Given the description of an element on the screen output the (x, y) to click on. 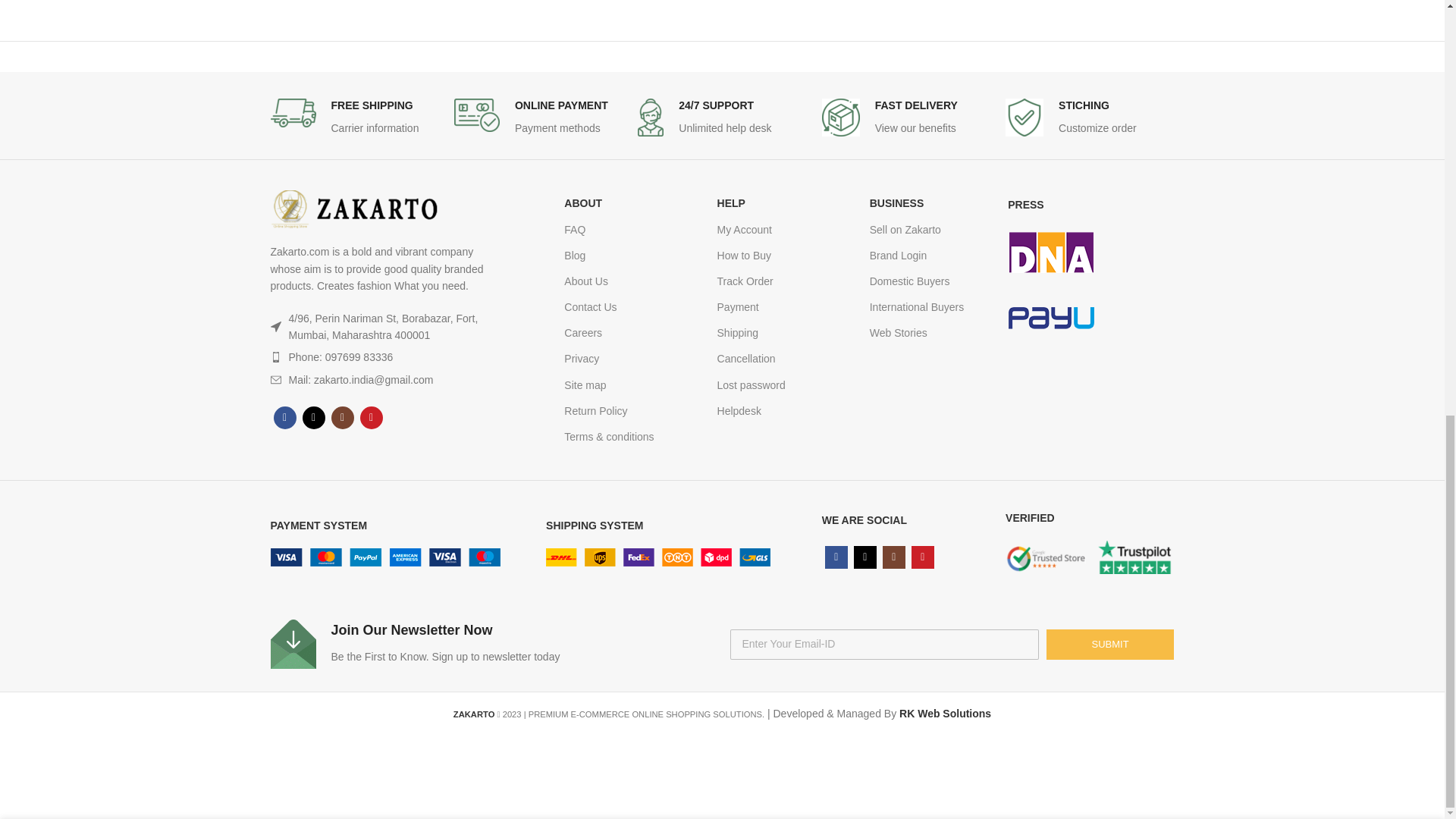
wd-cursor-dark.svg (275, 326)
wd-phone-dark.svg (275, 357)
wd-envelope-dark.svg (275, 379)
